Given the description of an element on the screen output the (x, y) to click on. 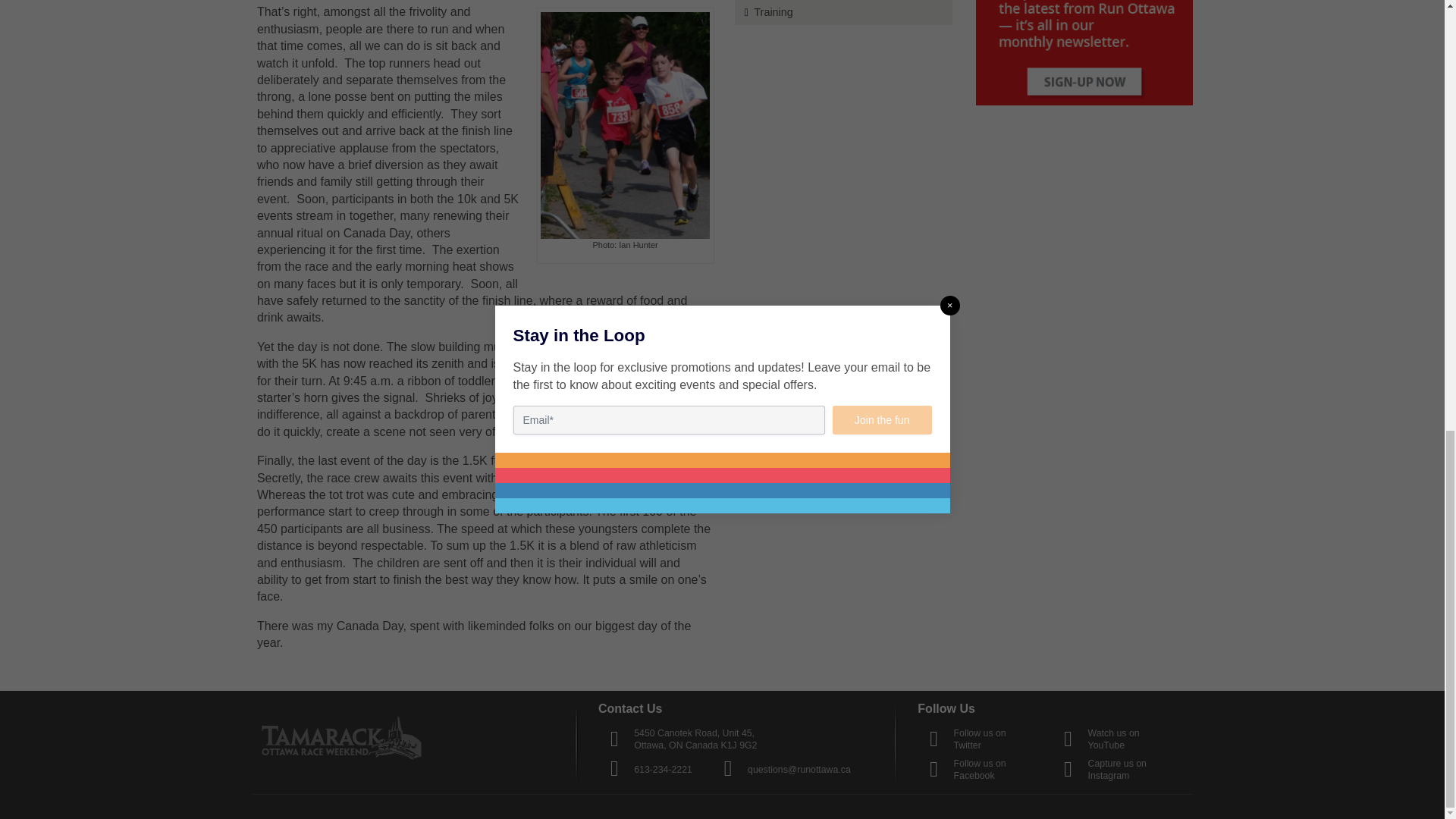
Sign-up for the Pulse (1083, 52)
